Given the description of an element on the screen output the (x, y) to click on. 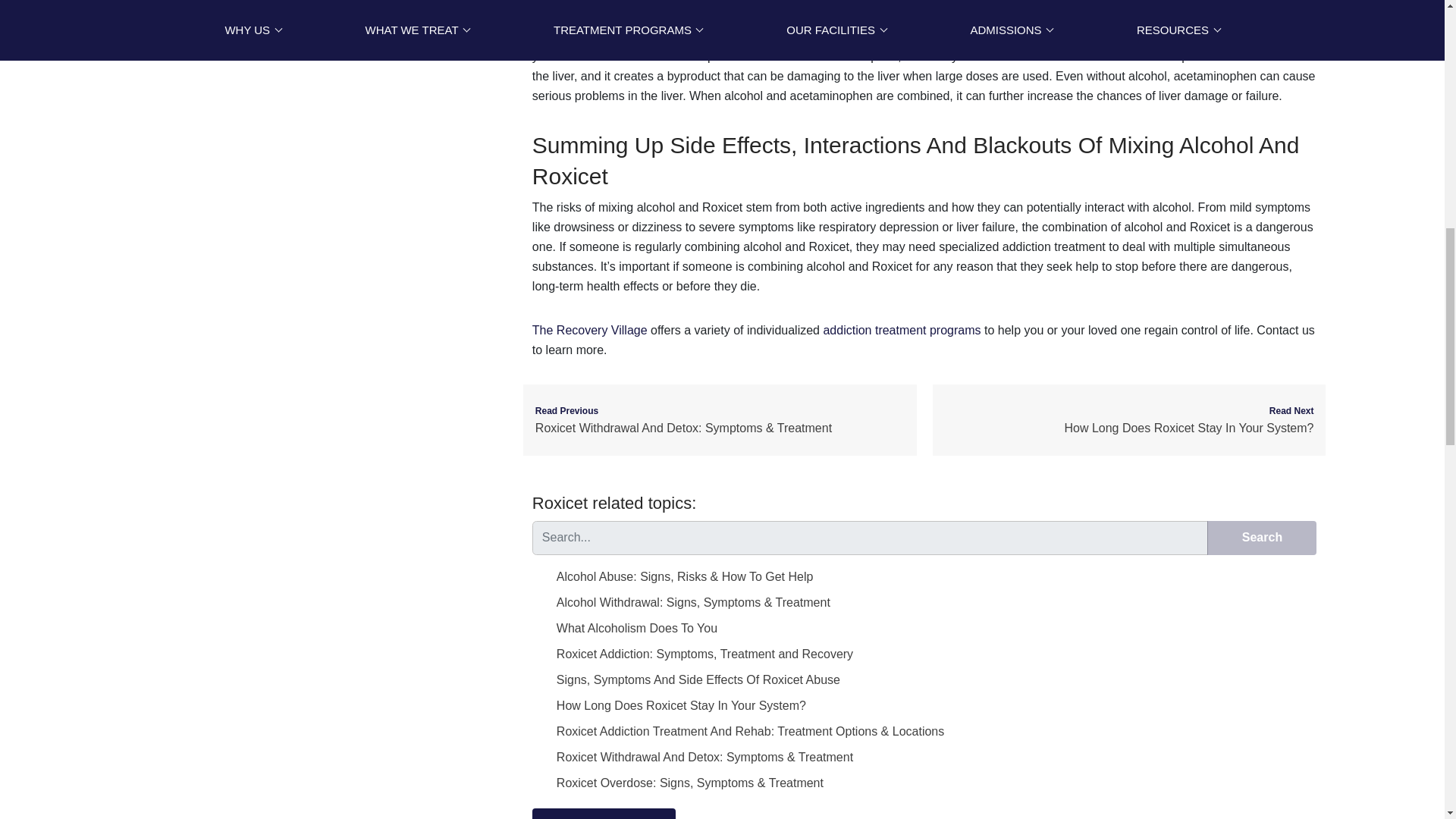
Search (1261, 537)
